Given the description of an element on the screen output the (x, y) to click on. 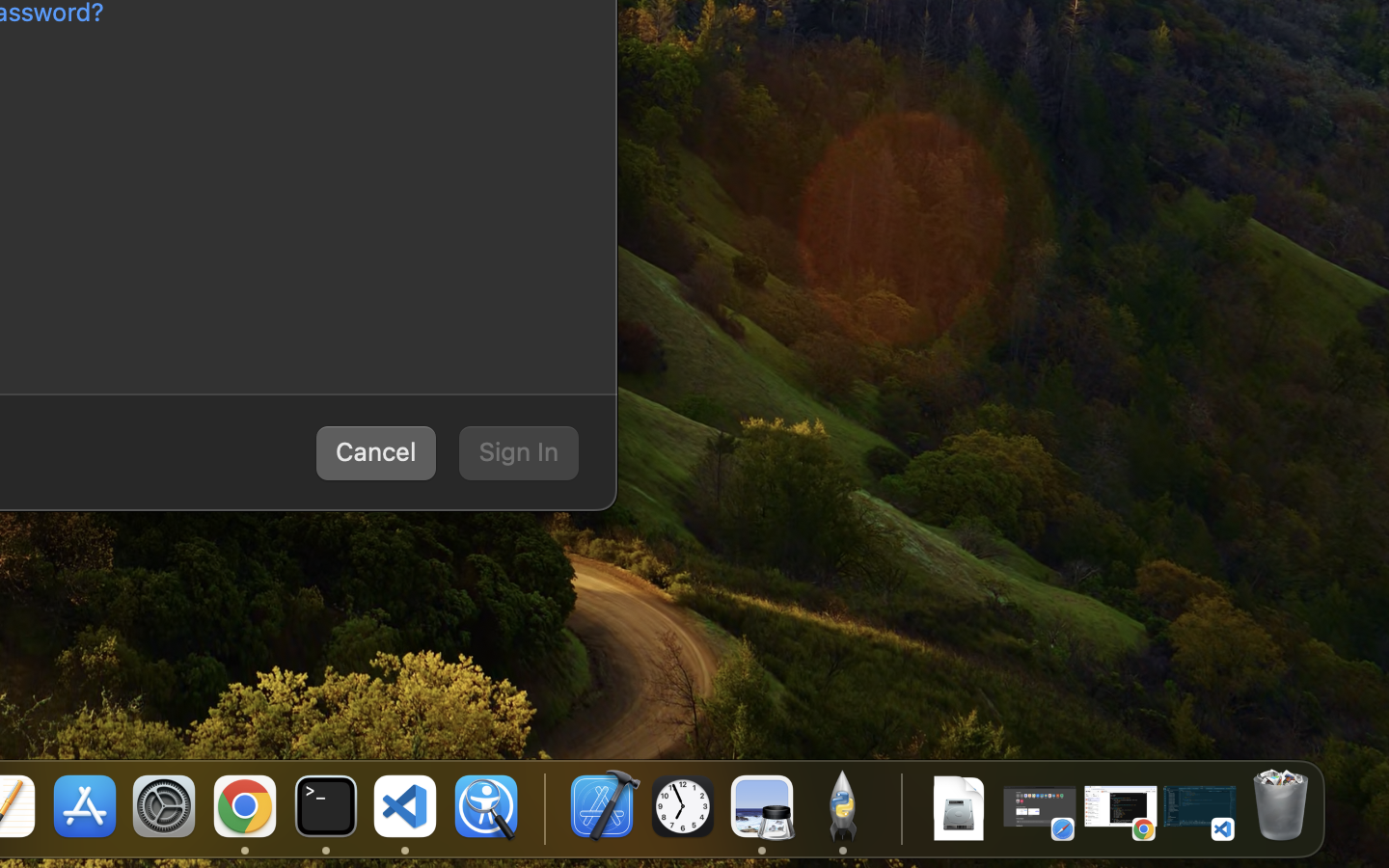
0.4285714328289032 Element type: AXDockItem (541, 807)
